Given the description of an element on the screen output the (x, y) to click on. 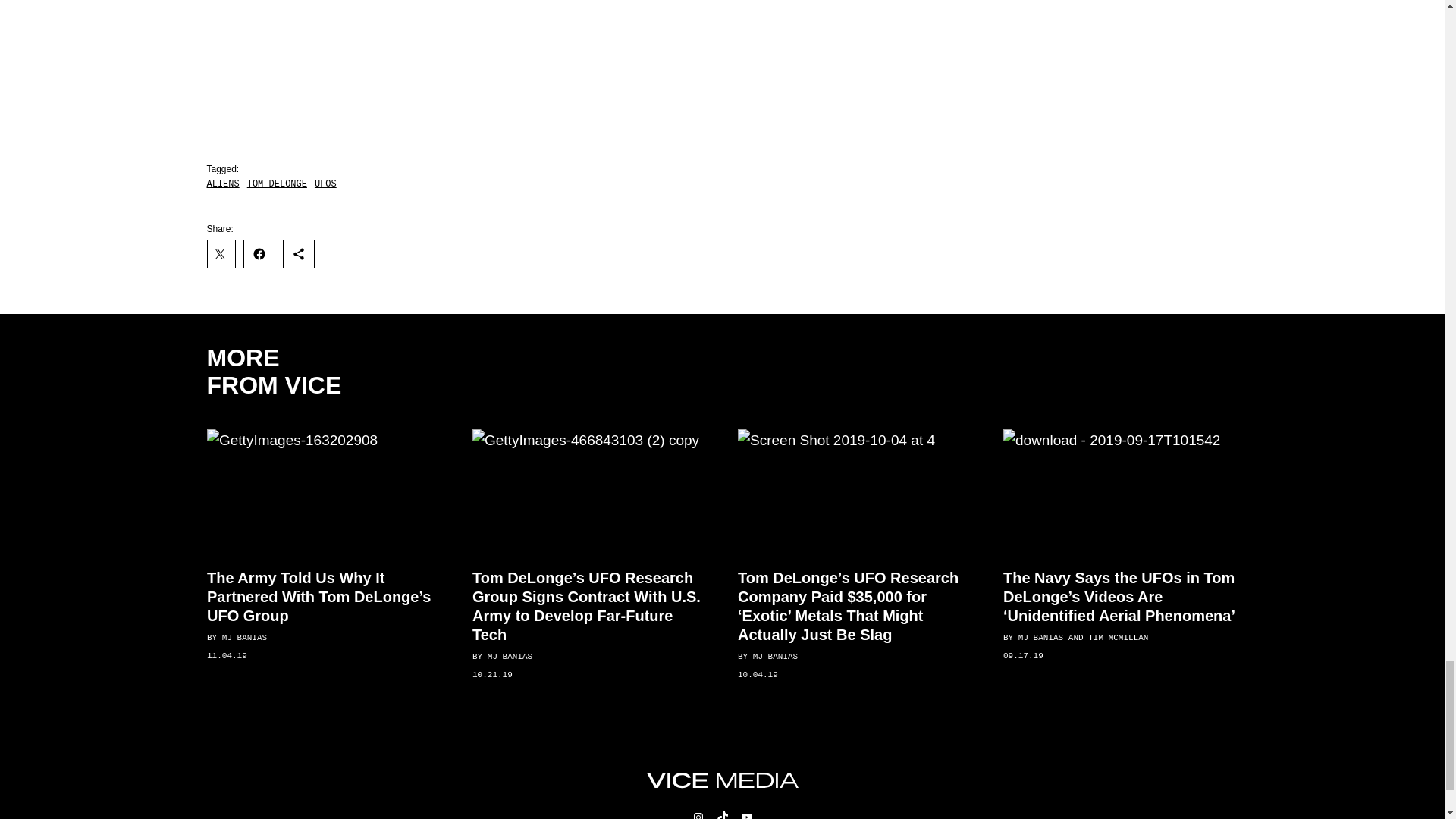
Posts by MJ Banias (508, 656)
Posts by MJ Banias (774, 655)
Posts by MJ Banias (243, 637)
